Given the description of an element on the screen output the (x, y) to click on. 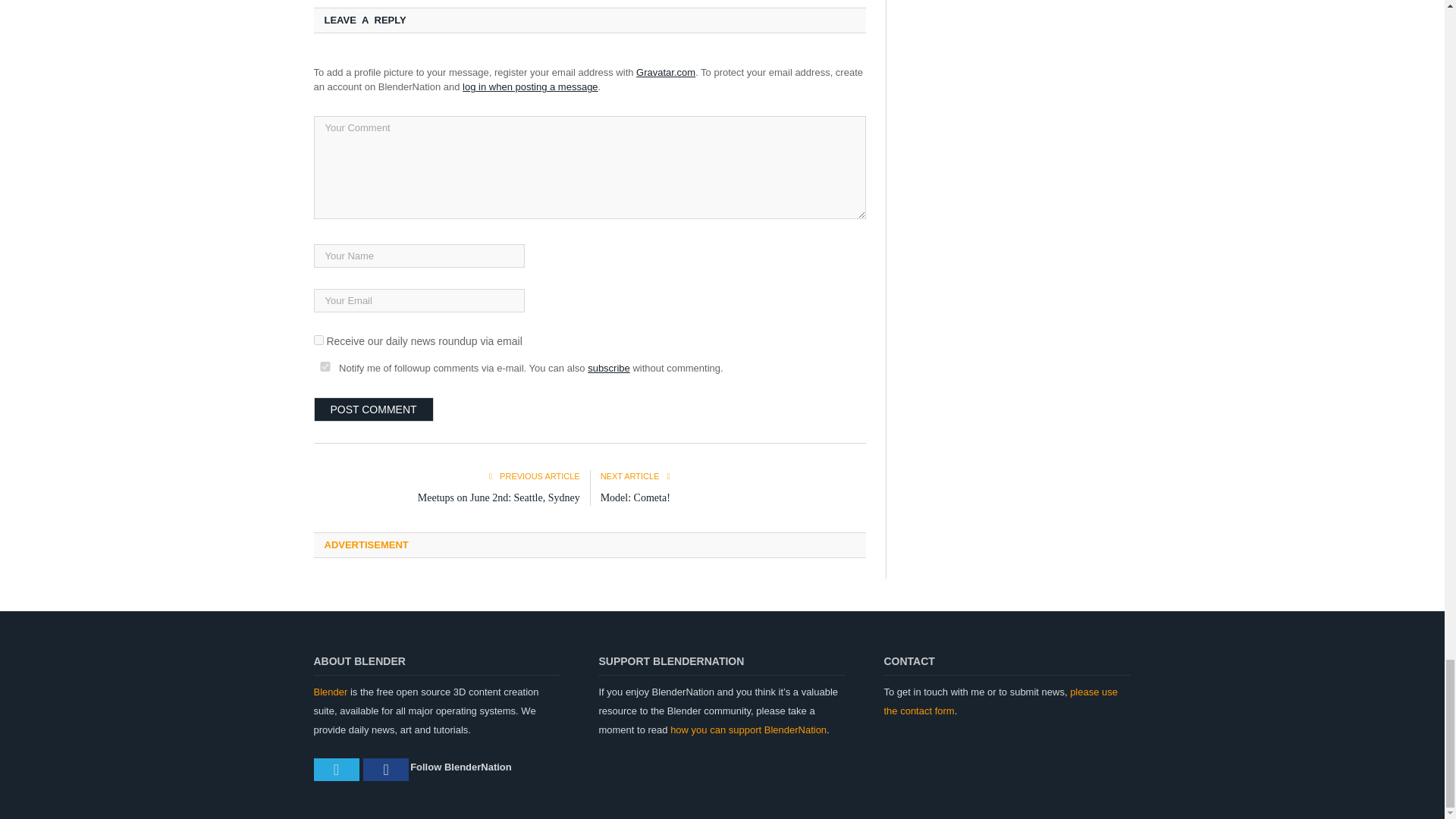
Post Comment (373, 409)
yes (325, 366)
1 (318, 339)
